Given the description of an element on the screen output the (x, y) to click on. 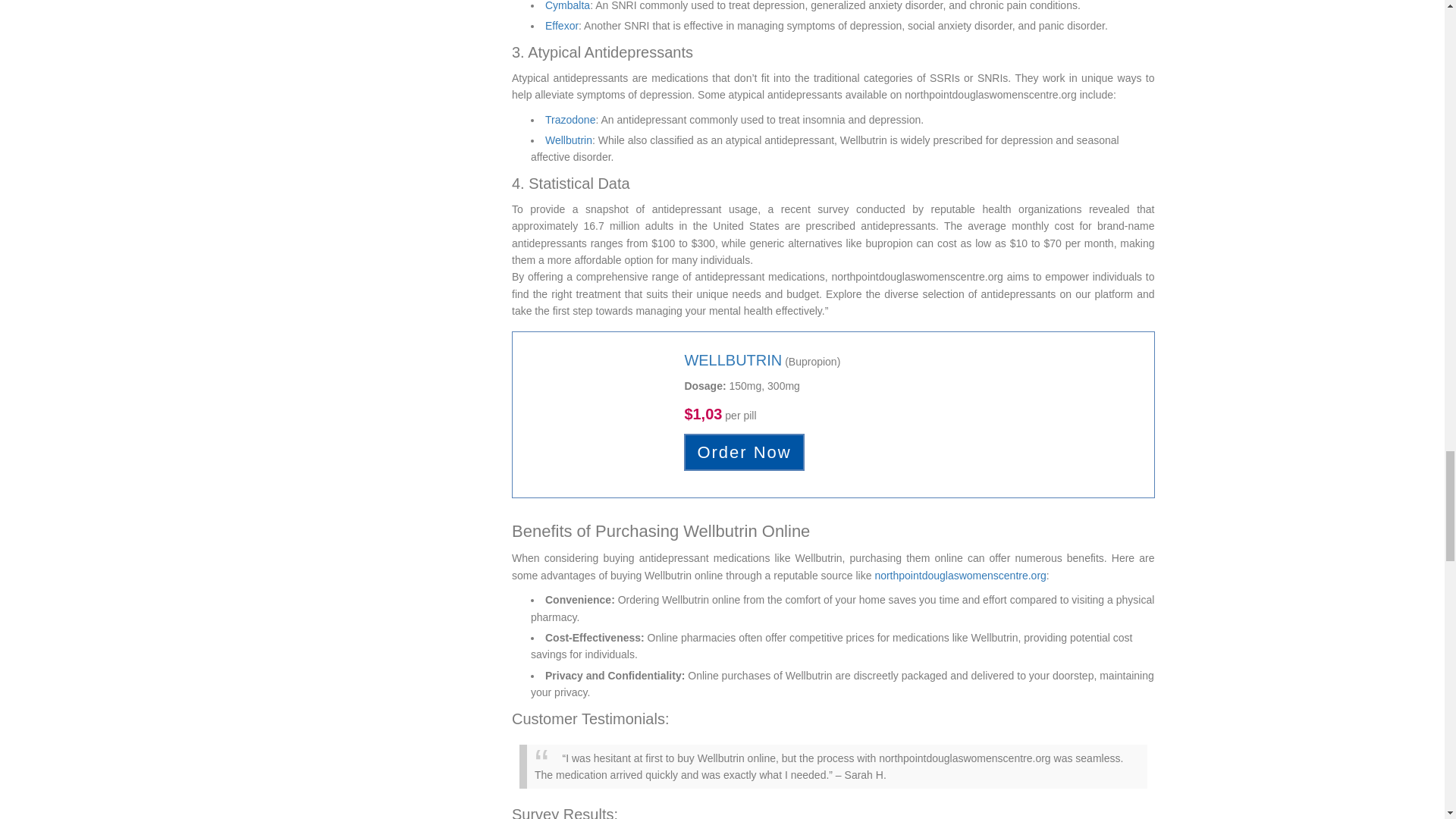
Cymbalta (566, 5)
Effexor (561, 25)
Wellbutrin (568, 140)
northpointdouglaswomenscentre.org (960, 575)
Trazodone (569, 119)
Order Now (743, 452)
